Given the description of an element on the screen output the (x, y) to click on. 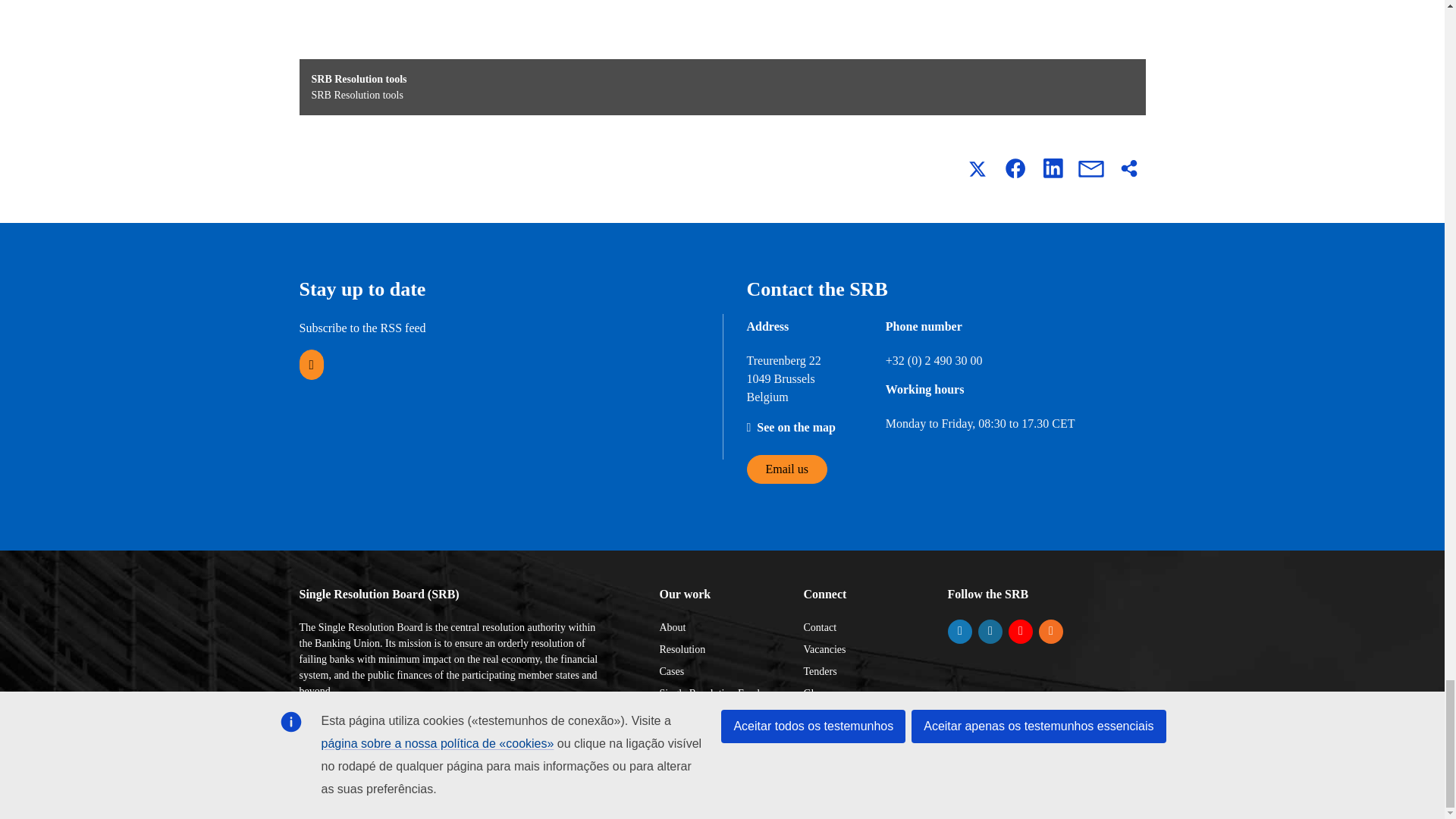
Partilhar via X (976, 167)
Partilhar via Facebook (1013, 167)
Partilhar via LinkedIn (1051, 167)
